Given the description of an element on the screen output the (x, y) to click on. 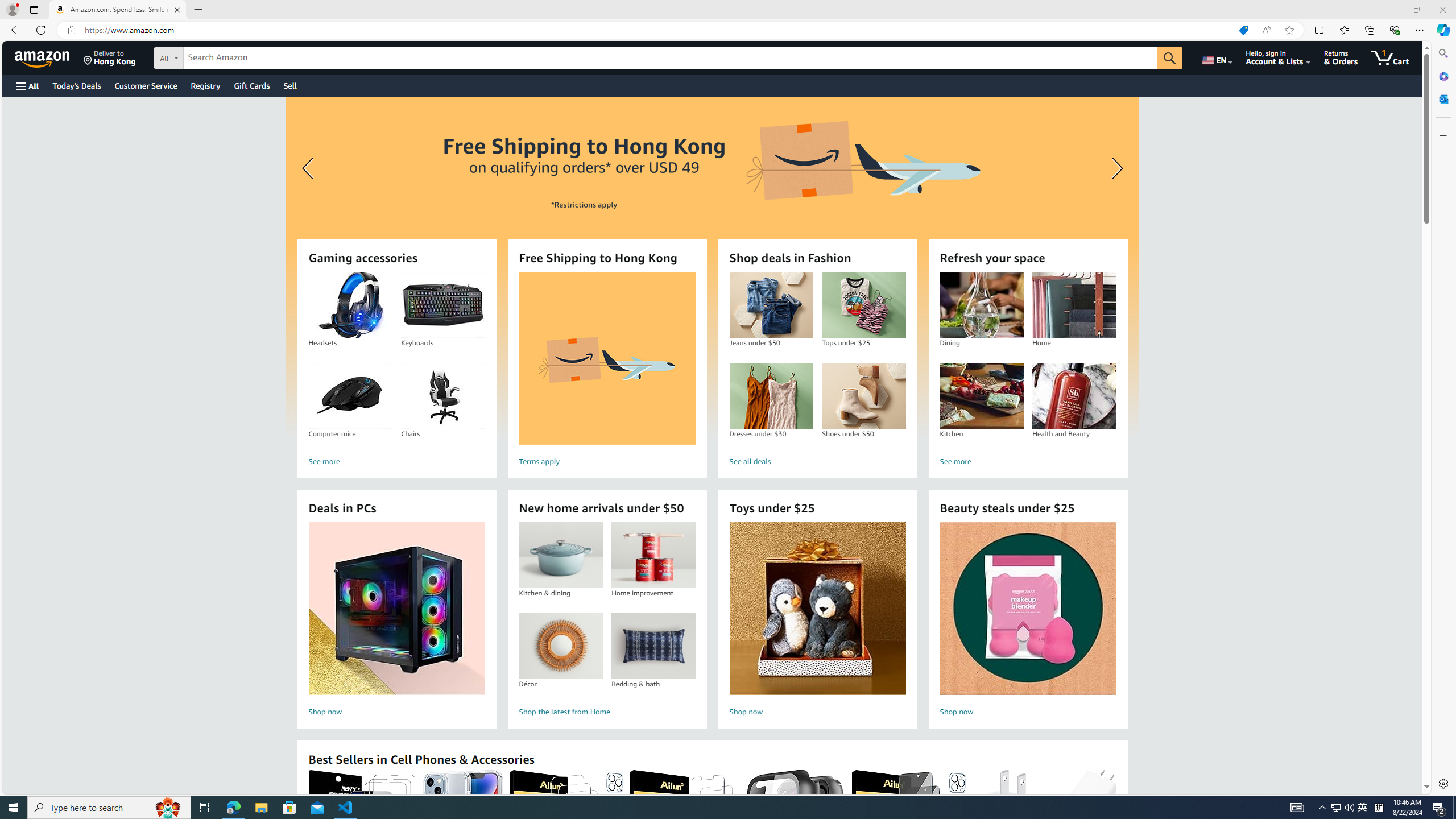
Open Menu (26, 86)
Copilot (Ctrl+Shift+.) (1442, 29)
Run or Debug... (1414, 29)
Shopping in Microsoft Edge (1243, 29)
Output (Ctrl+Shift+U) (240, 539)
Tops under $25 (863, 304)
Next Match (Enter) (1333, 60)
CRLF (1336, 789)
Split screen (1318, 29)
Gift Cards (251, 85)
Beauty steals under $25 Shop now (1028, 620)
Computer mice (350, 395)
Deliver to Hong Kong (109, 57)
Python (13, 197)
